Given the description of an element on the screen output the (x, y) to click on. 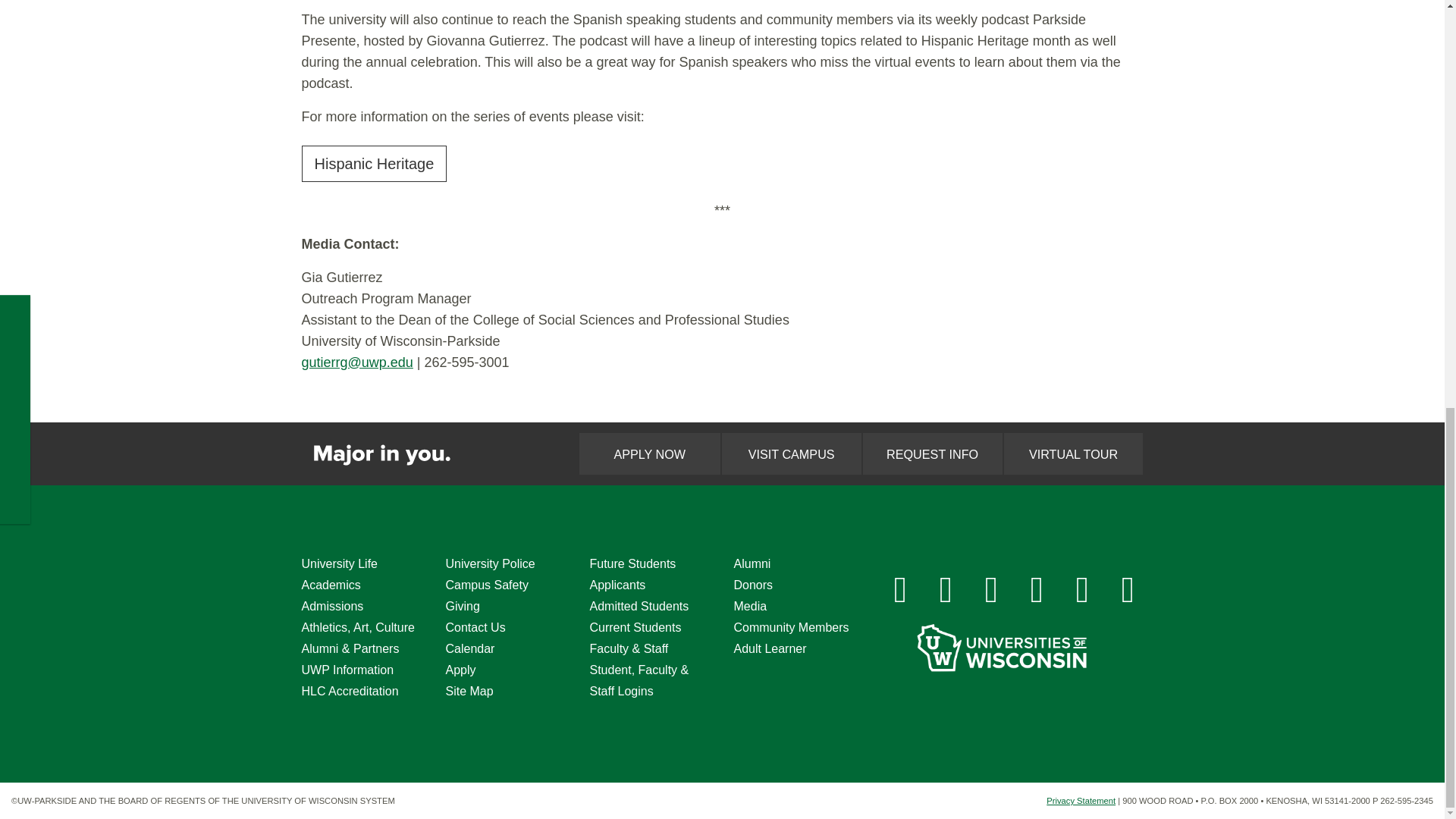
X (991, 589)
Email Admissions (1128, 589)
LinkedIn (1036, 589)
Instagram (946, 589)
TikTok (1082, 589)
Facebook (900, 589)
